Given the description of an element on the screen output the (x, y) to click on. 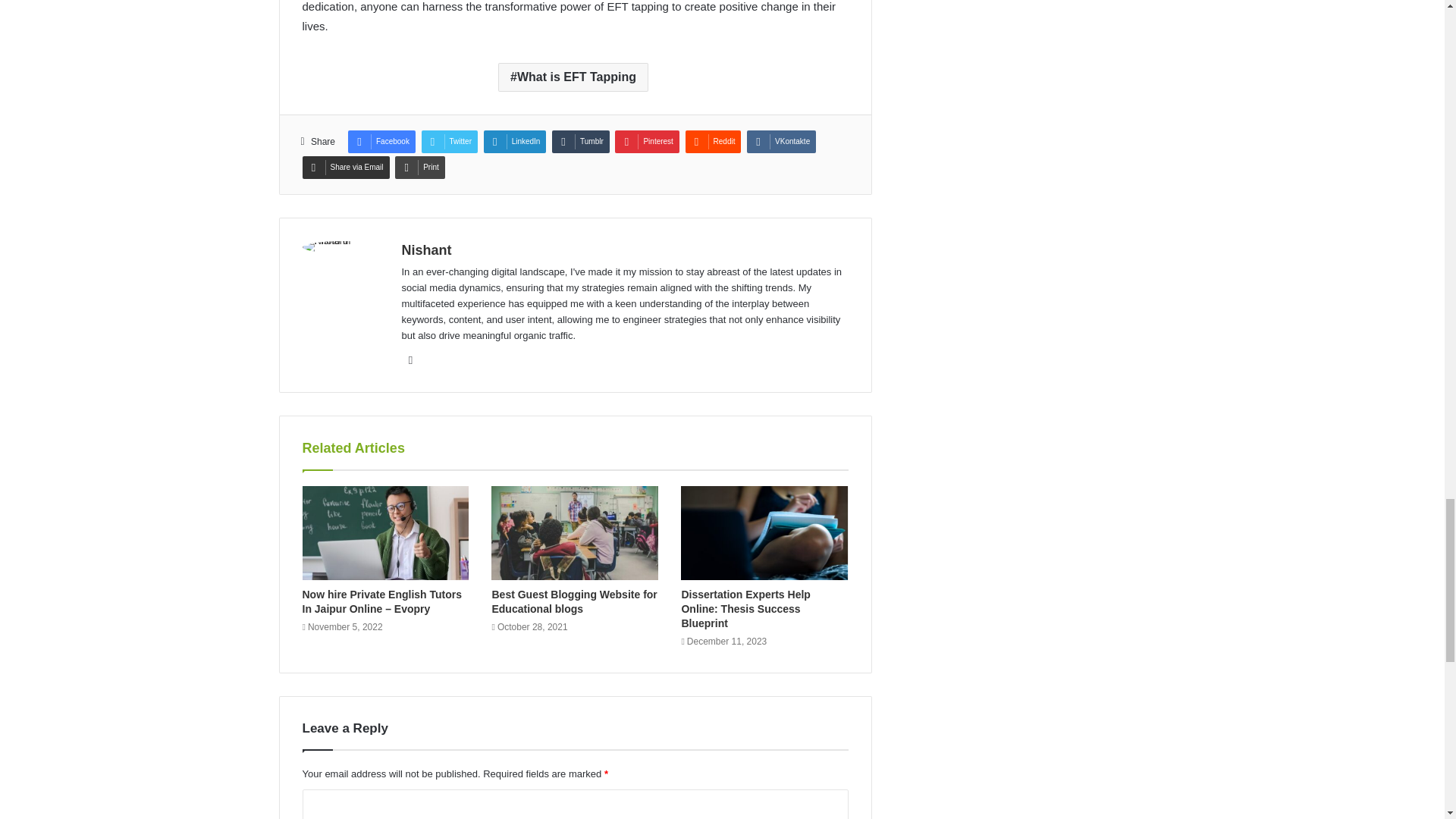
What is EFT Tapping (572, 77)
